Given the description of an element on the screen output the (x, y) to click on. 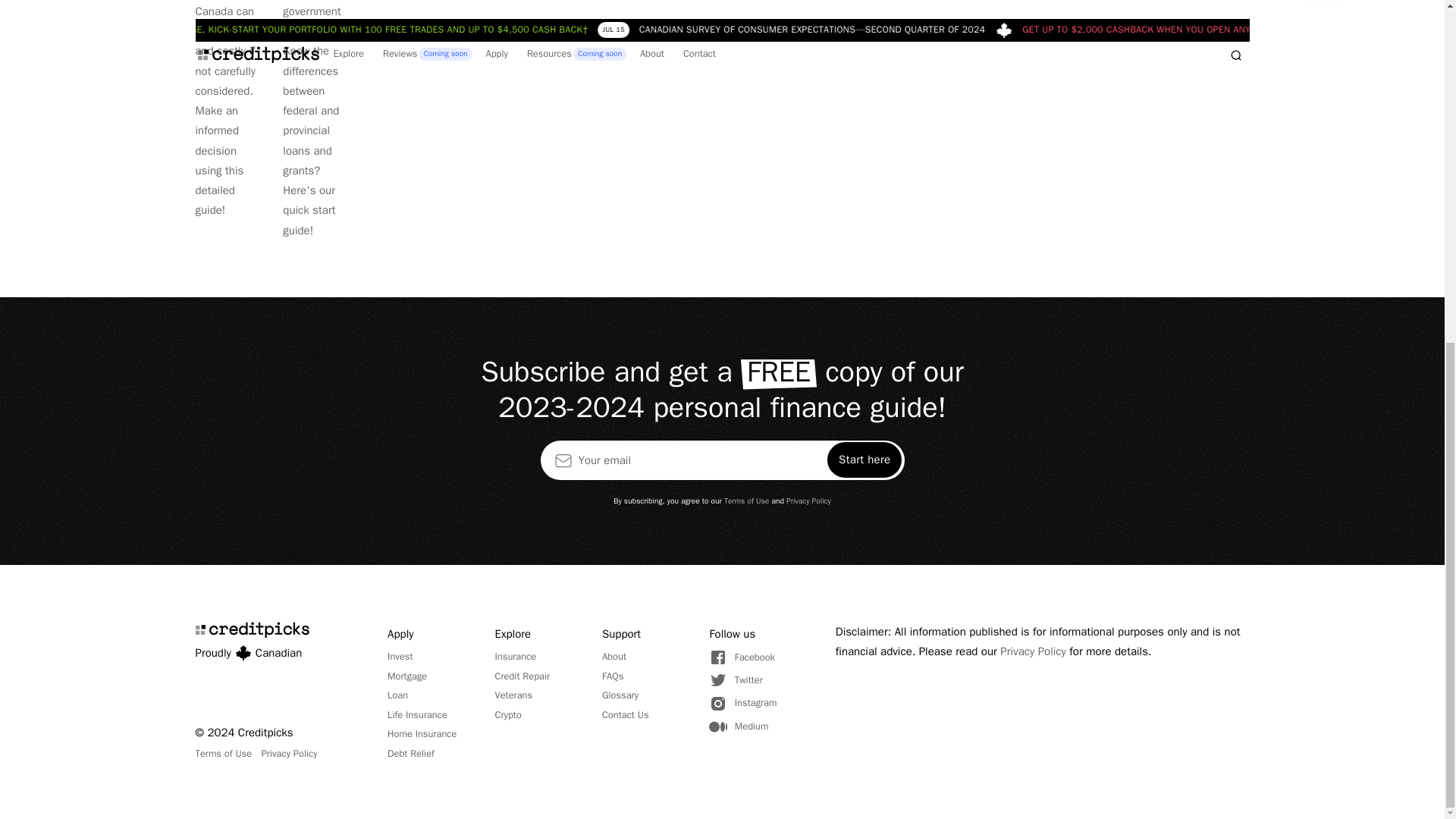
Follow us on Facebook (742, 657)
Like us on Twitter (742, 680)
Follow us on Instagram (742, 703)
Read us on Medium (742, 726)
